Given the description of an element on the screen output the (x, y) to click on. 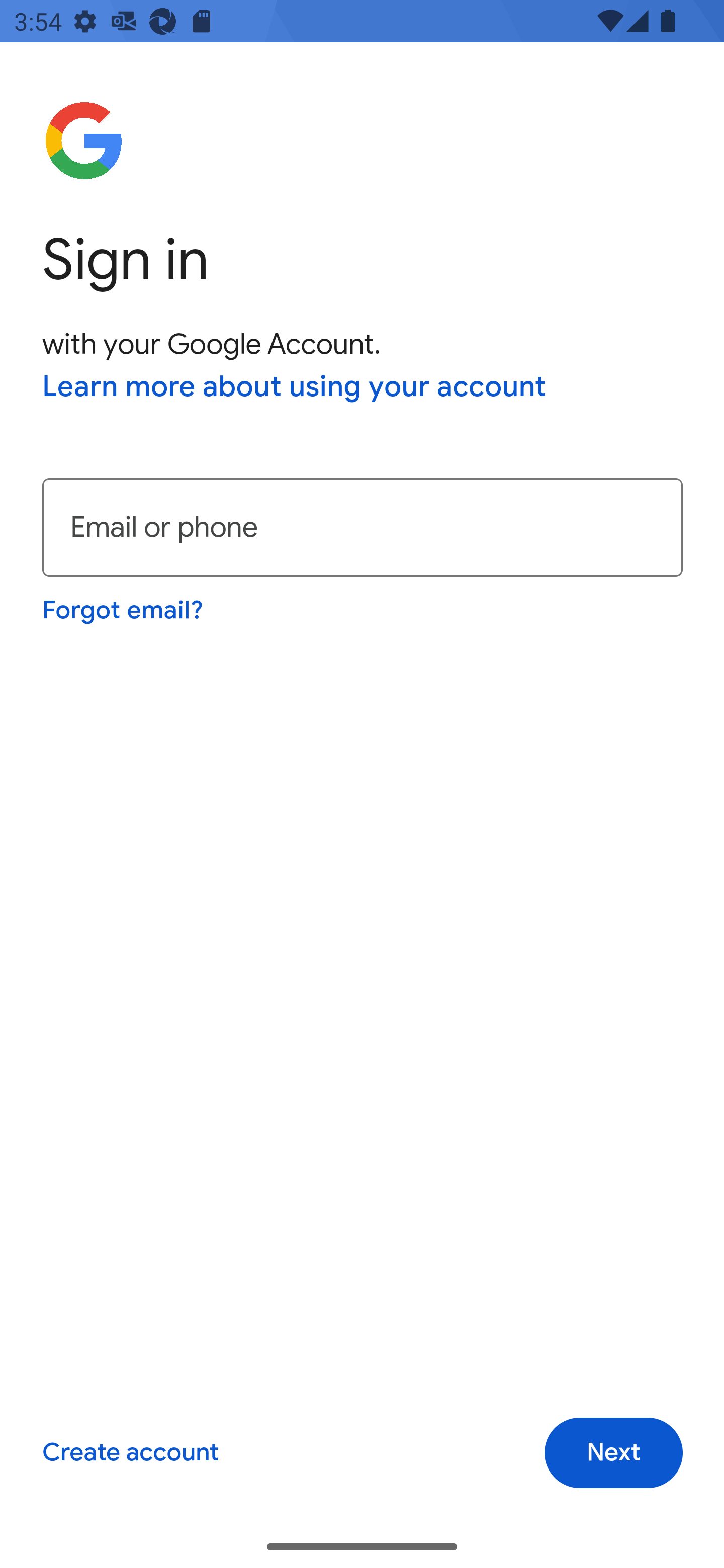
Learn more about using your account (294, 388)
Forgot email? (123, 609)
Next (613, 1453)
Create account (129, 1453)
